Given the description of an element on the screen output the (x, y) to click on. 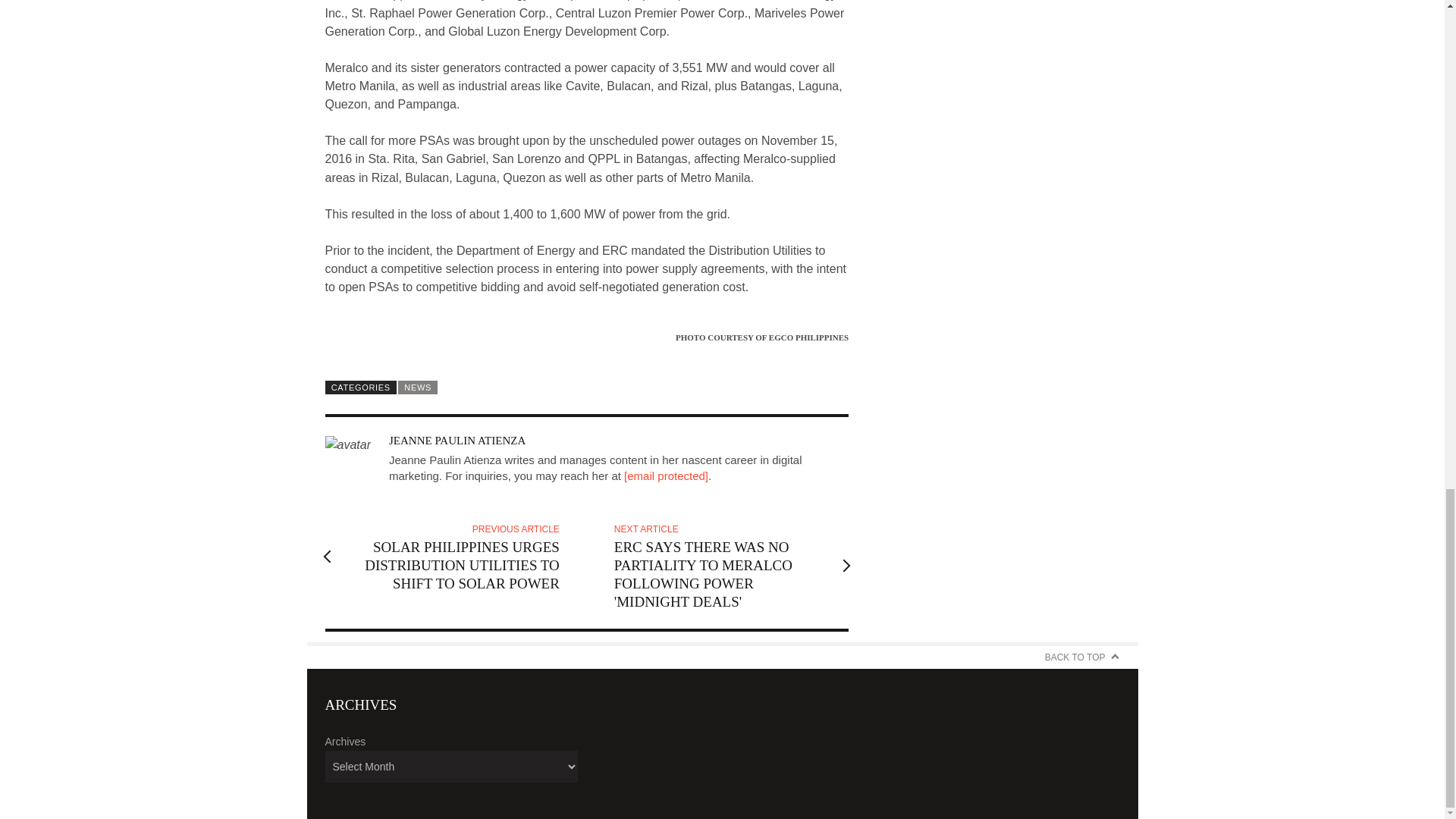
View all posts in News (417, 386)
JEANNE PAULIN ATIENZA (456, 440)
NEWS (417, 386)
Posts by Jeanne Paulin Atienza (456, 440)
BACK TO TOP (1082, 657)
